Given the description of an element on the screen output the (x, y) to click on. 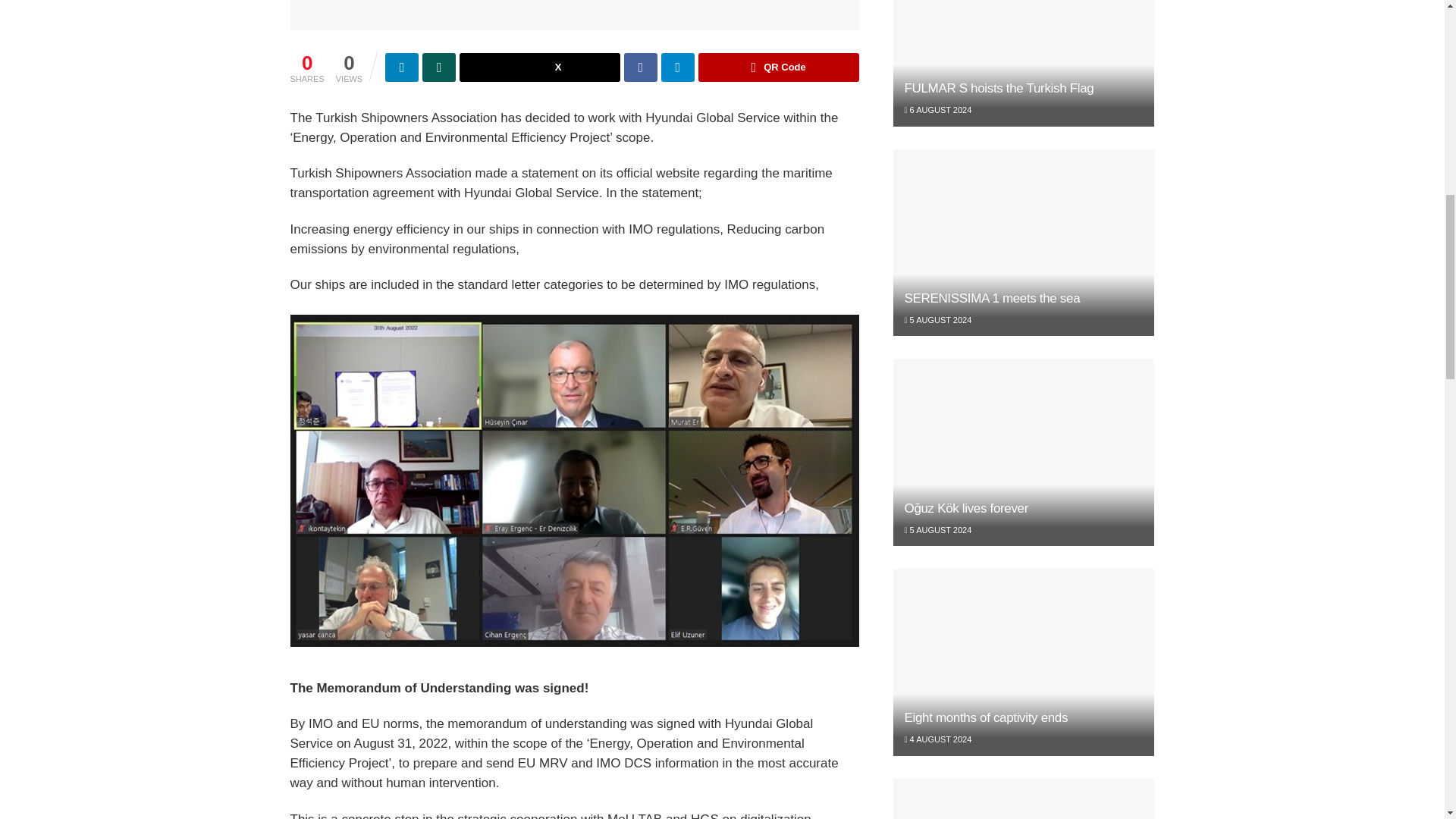
QR Code (778, 67)
X (540, 67)
